Given the description of an element on the screen output the (x, y) to click on. 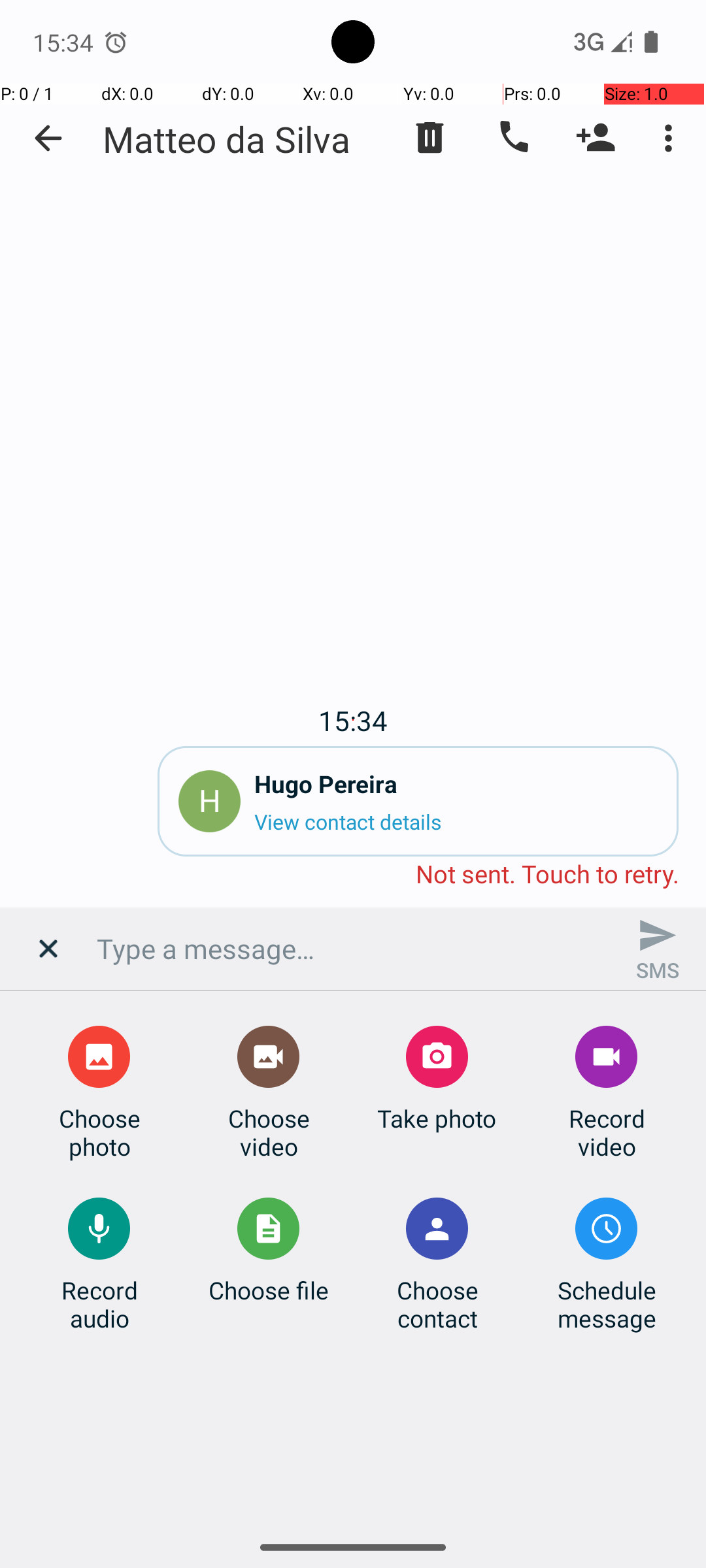
Matteo da Silva Element type: android.widget.TextView (226, 138)
Not sent. Touch to retry. Element type: android.widget.TextView (353, 874)
Hugo Pereira Element type: android.widget.TextView (455, 783)
View contact details Element type: android.widget.TextView (455, 821)
